Given the description of an element on the screen output the (x, y) to click on. 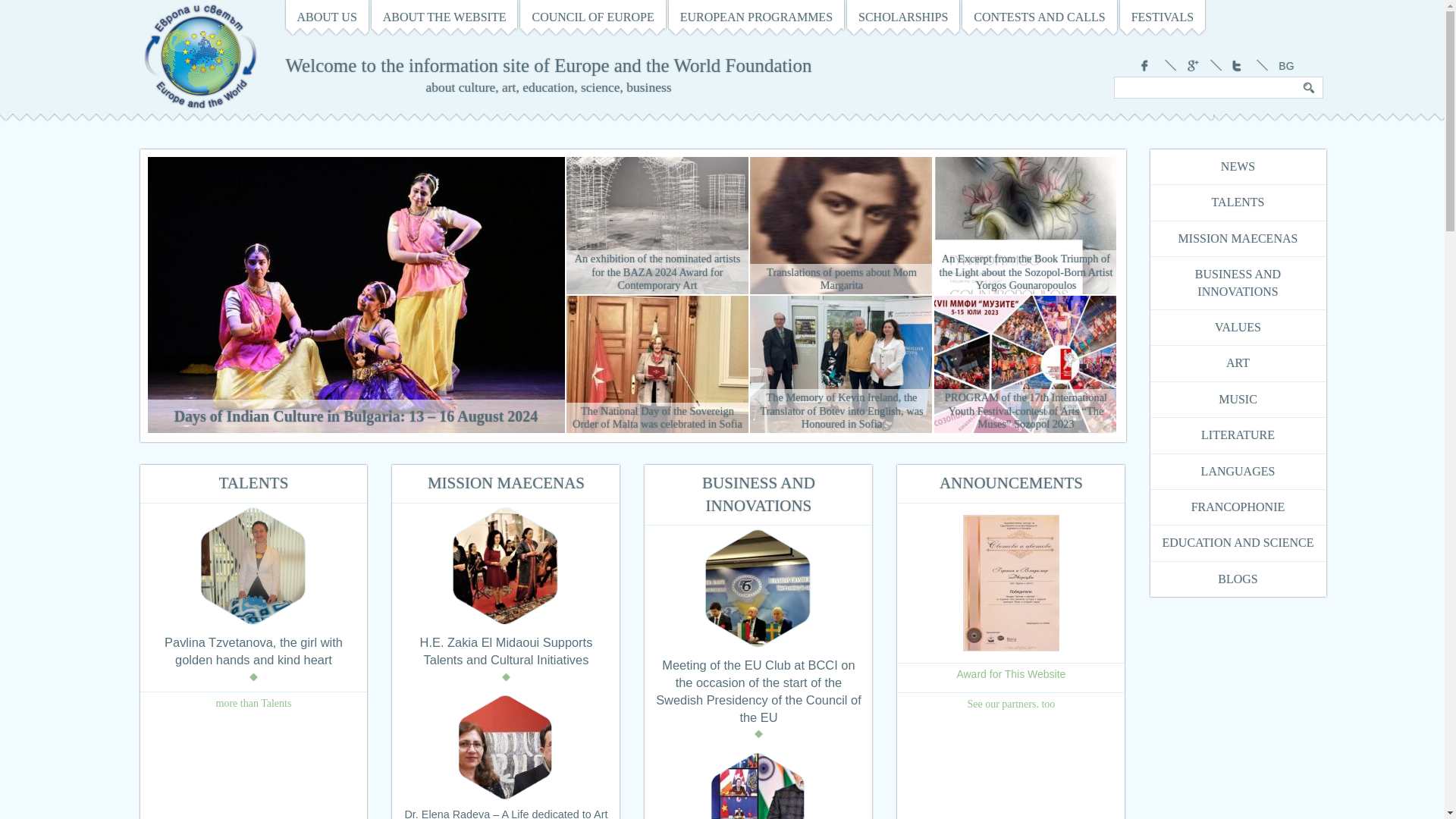
ABOUT US (326, 17)
COUNCIL OF EUROPE (592, 17)
EUROPEAN PROGRAMMES (756, 17)
SCHOLARSHIPS (903, 17)
ABOUT THE WEBSITE (444, 17)
FESTIVALS (1162, 17)
CONTESTS AND CALLS (1039, 17)
